Given the description of an element on the screen output the (x, y) to click on. 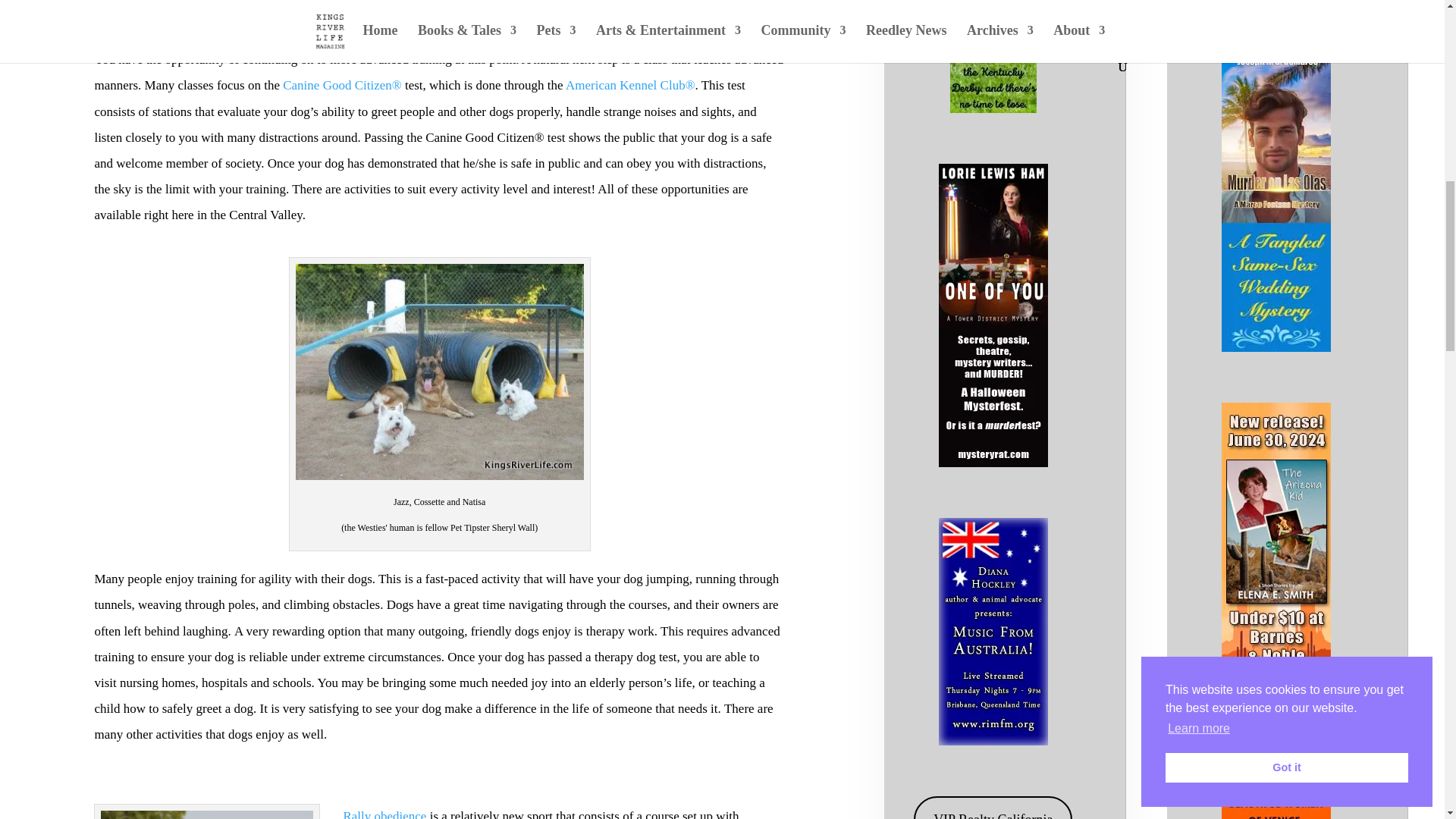
Photo submitted by Tara Wilson (206, 814)
Photo by Tara Wilson (439, 371)
